Given the description of an element on the screen output the (x, y) to click on. 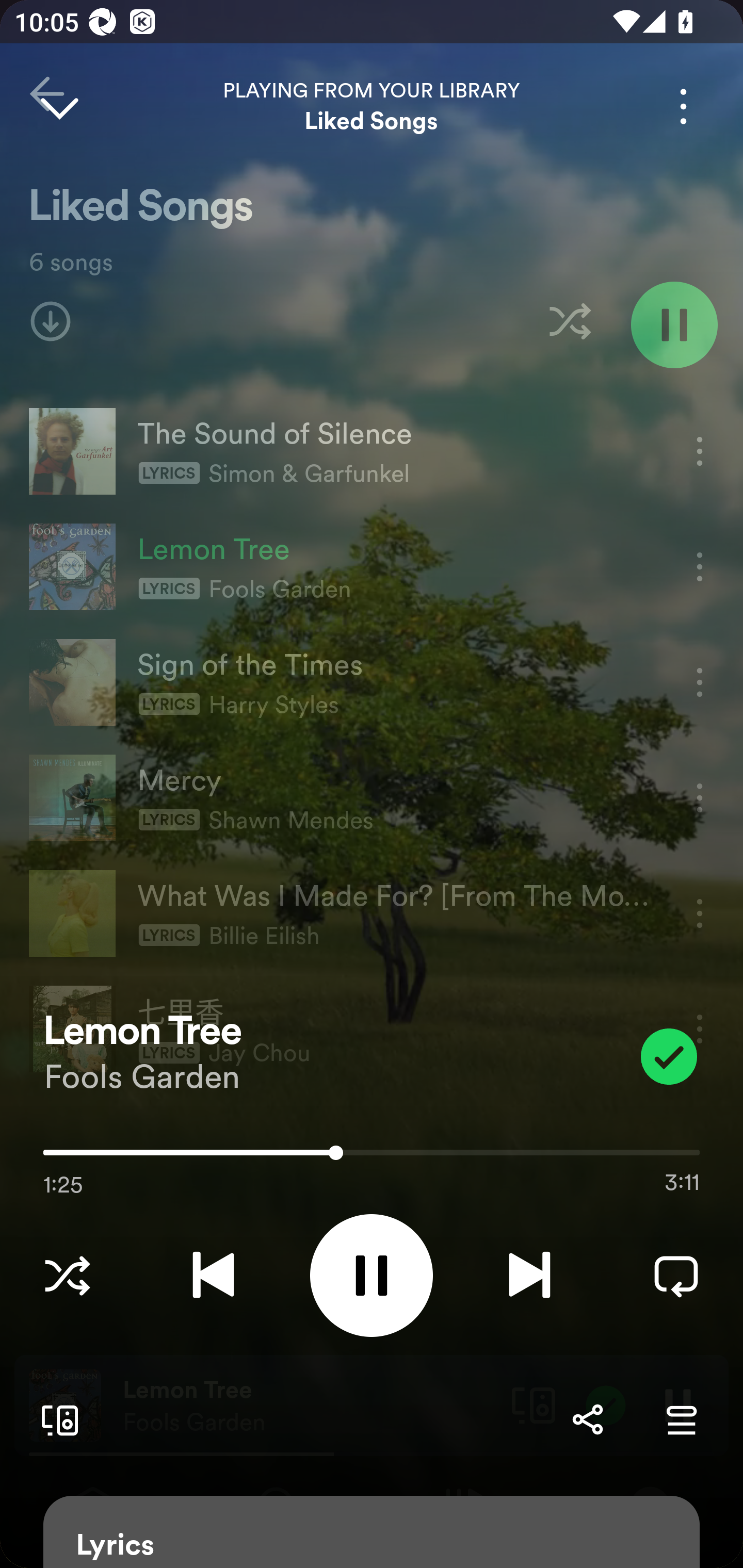
Close (59, 106)
More options for song Lemon Tree (683, 106)
PLAYING FROM YOUR LIBRARY Liked Songs (371, 106)
Item added (669, 1056)
1:24 3:11 84860.0 Use volume keys to adjust (371, 1157)
84860.0 Use volume keys to adjust (371, 1149)
Pause (371, 1275)
Previous (212, 1275)
Next (529, 1275)
Choose a Listening Mode (66, 1275)
Repeat (676, 1275)
Share (587, 1419)
Go to Queue (681, 1419)
Connect to a device. Opens the devices menu (55, 1419)
Lyrics (371, 1531)
